Given the description of an element on the screen output the (x, y) to click on. 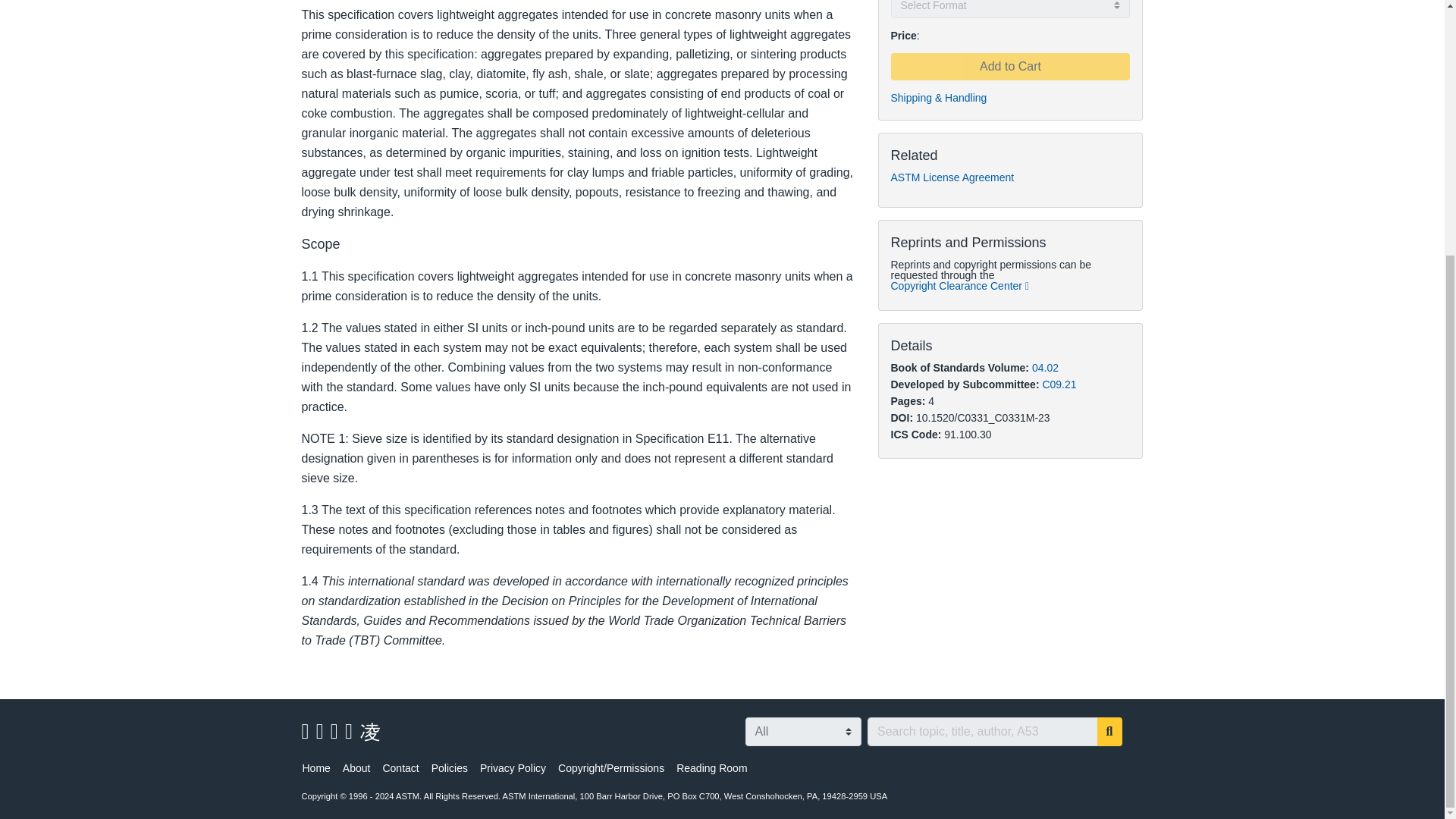
Add to Cart (1009, 66)
